Given the description of an element on the screen output the (x, y) to click on. 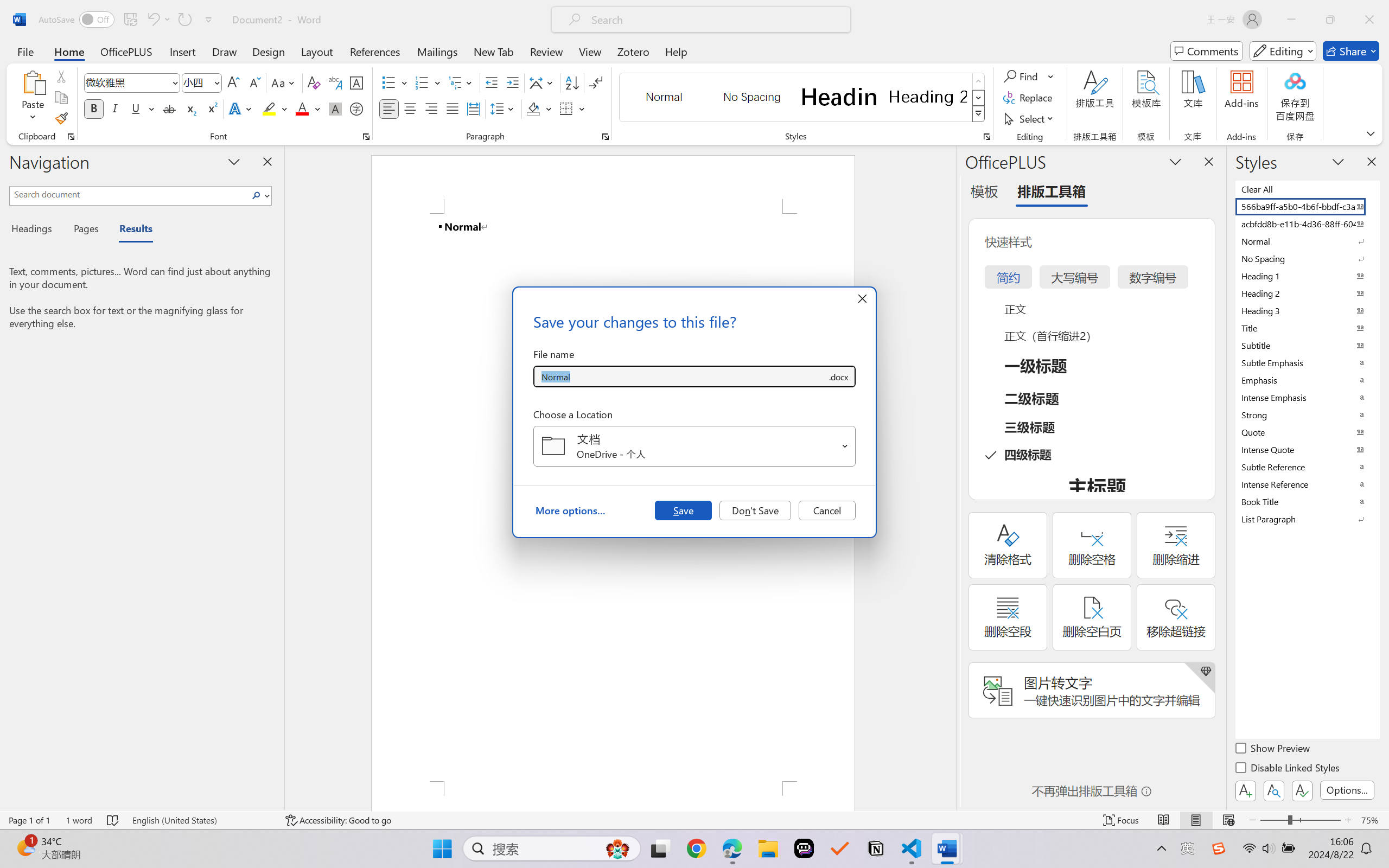
Poe (804, 848)
No Spacing (1306, 258)
Read Mode (1163, 819)
Language English (United States) (201, 819)
acbfdd8b-e11b-4d36-88ff-6049b138f862 (1306, 223)
Cancel (826, 509)
Save (682, 509)
Results (130, 229)
Repeat Style (184, 19)
Don't Save (755, 509)
